Given the description of an element on the screen output the (x, y) to click on. 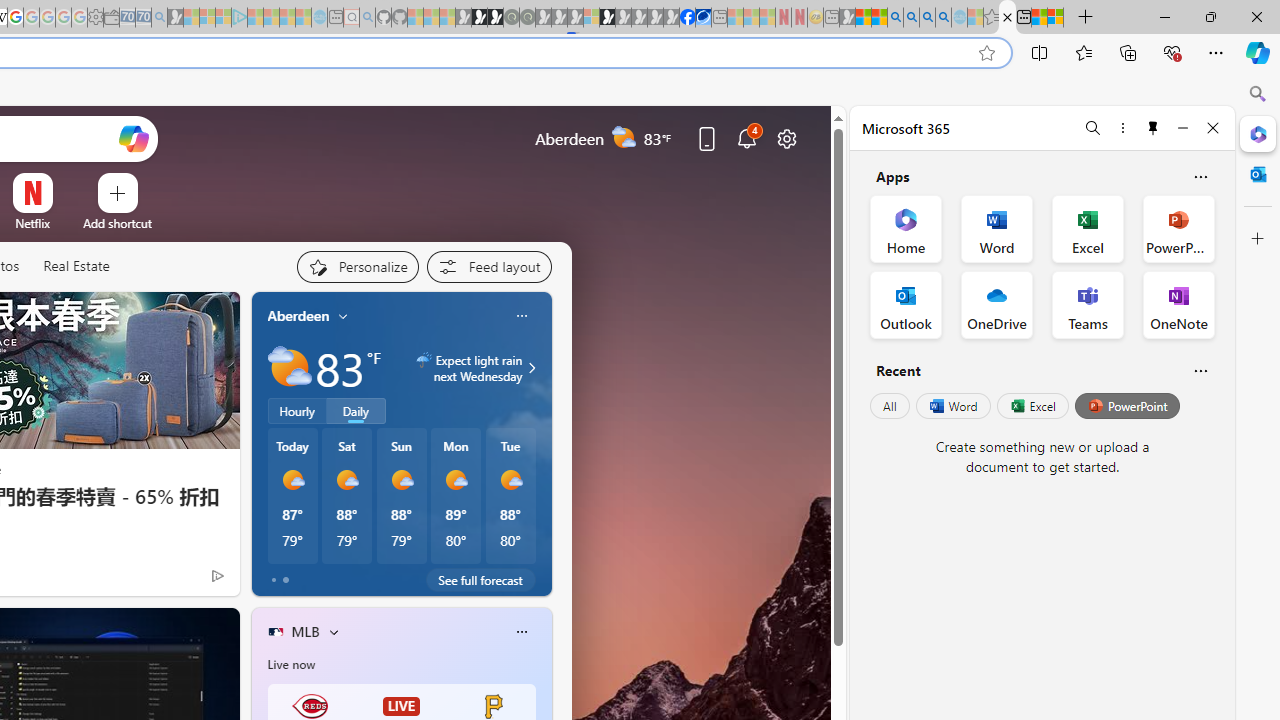
Class: icon-img (521, 632)
Favorites - Sleeping (991, 17)
2009 Bing officially replaced Live Search on June 3 - Search (911, 17)
PowerPoint Office App (1178, 228)
Home Office App (906, 228)
Bing AI - Search (895, 17)
